Given the description of an element on the screen output the (x, y) to click on. 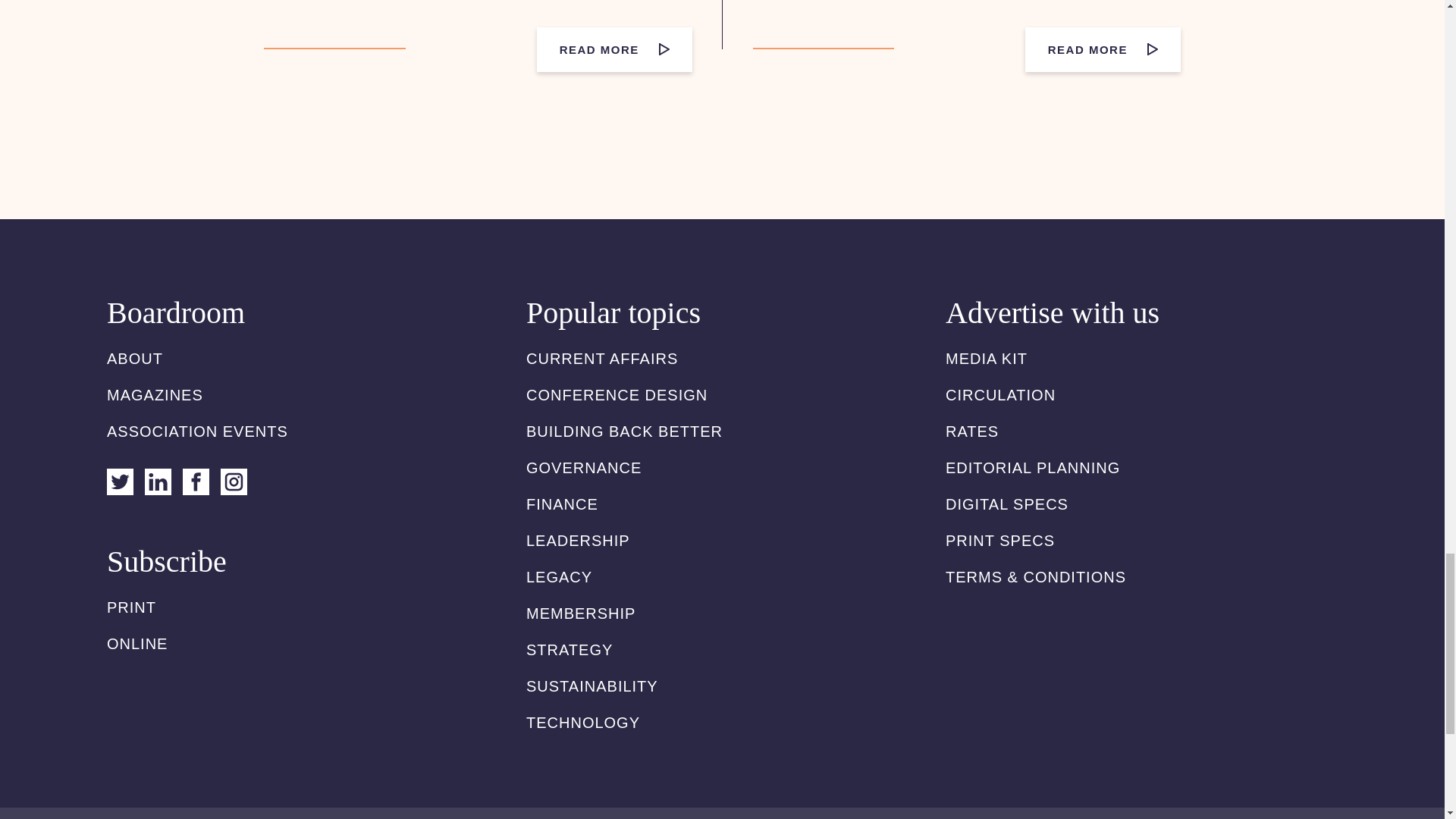
READ MORE (615, 49)
ABOUT (134, 358)
MAGAZINES (154, 395)
ASSOCIATION EVENTS (197, 431)
READ MORE (1102, 49)
